Given the description of an element on the screen output the (x, y) to click on. 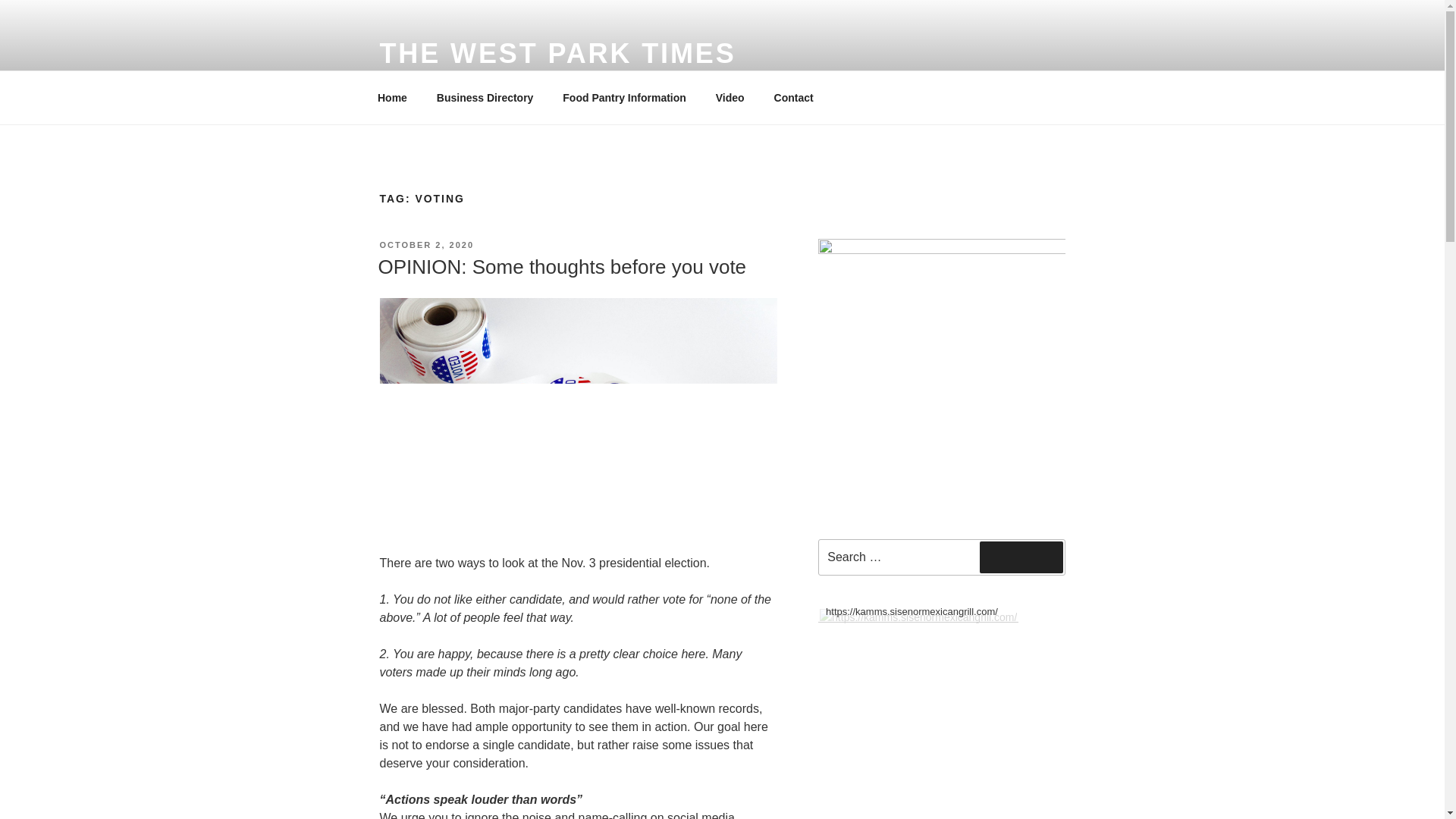
THE WEST PARK TIMES (556, 52)
Business Directory (485, 97)
OCTOBER 2, 2020 (426, 244)
CMYK Si Senor AD FOR WEB AND PRINT MAY (917, 617)
Contact (793, 97)
Home (392, 97)
Food Pantry Information (625, 97)
OPINION: Some thoughts before you vote (561, 266)
Video (729, 97)
Search (1020, 557)
